Given the description of an element on the screen output the (x, y) to click on. 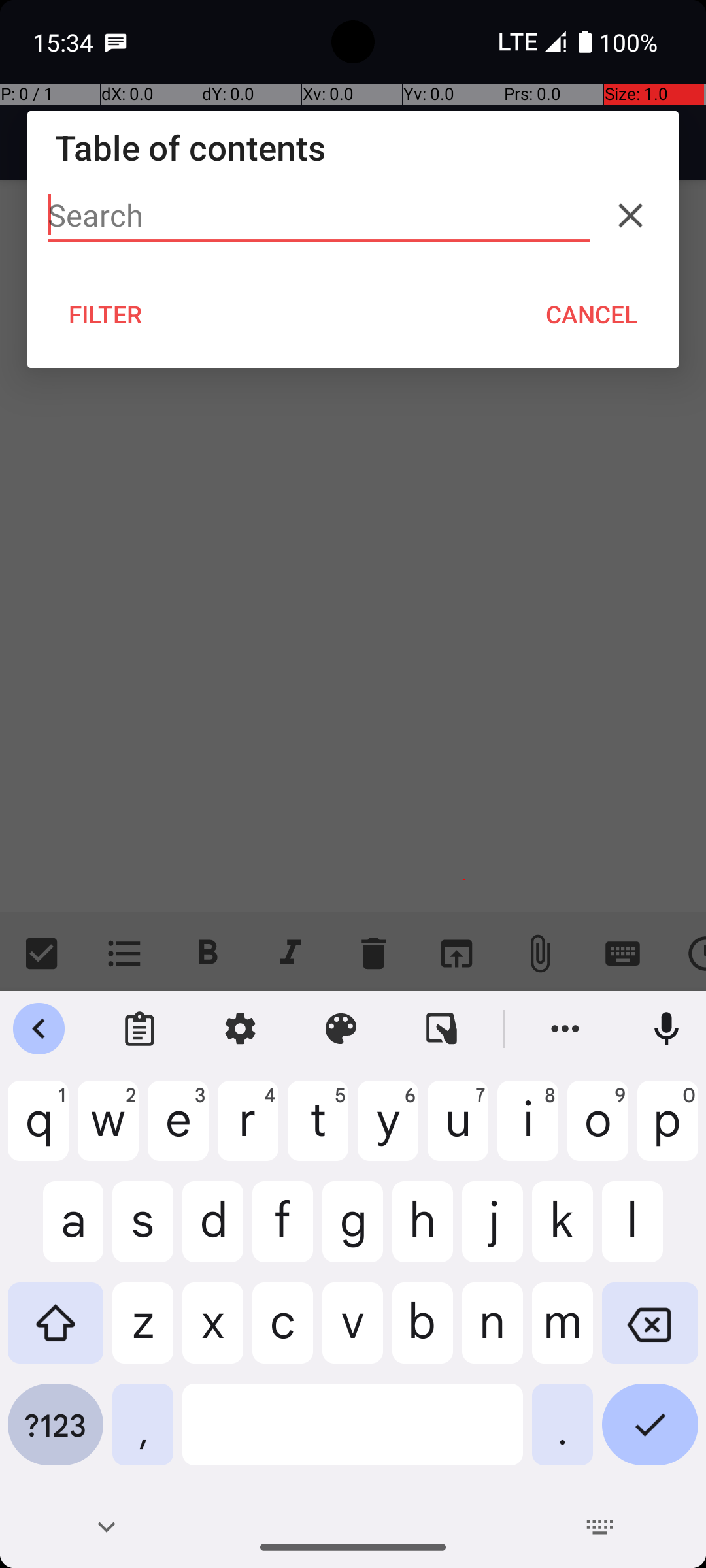
FILTER Element type: android.widget.Button (105, 313)
